Given the description of an element on the screen output the (x, y) to click on. 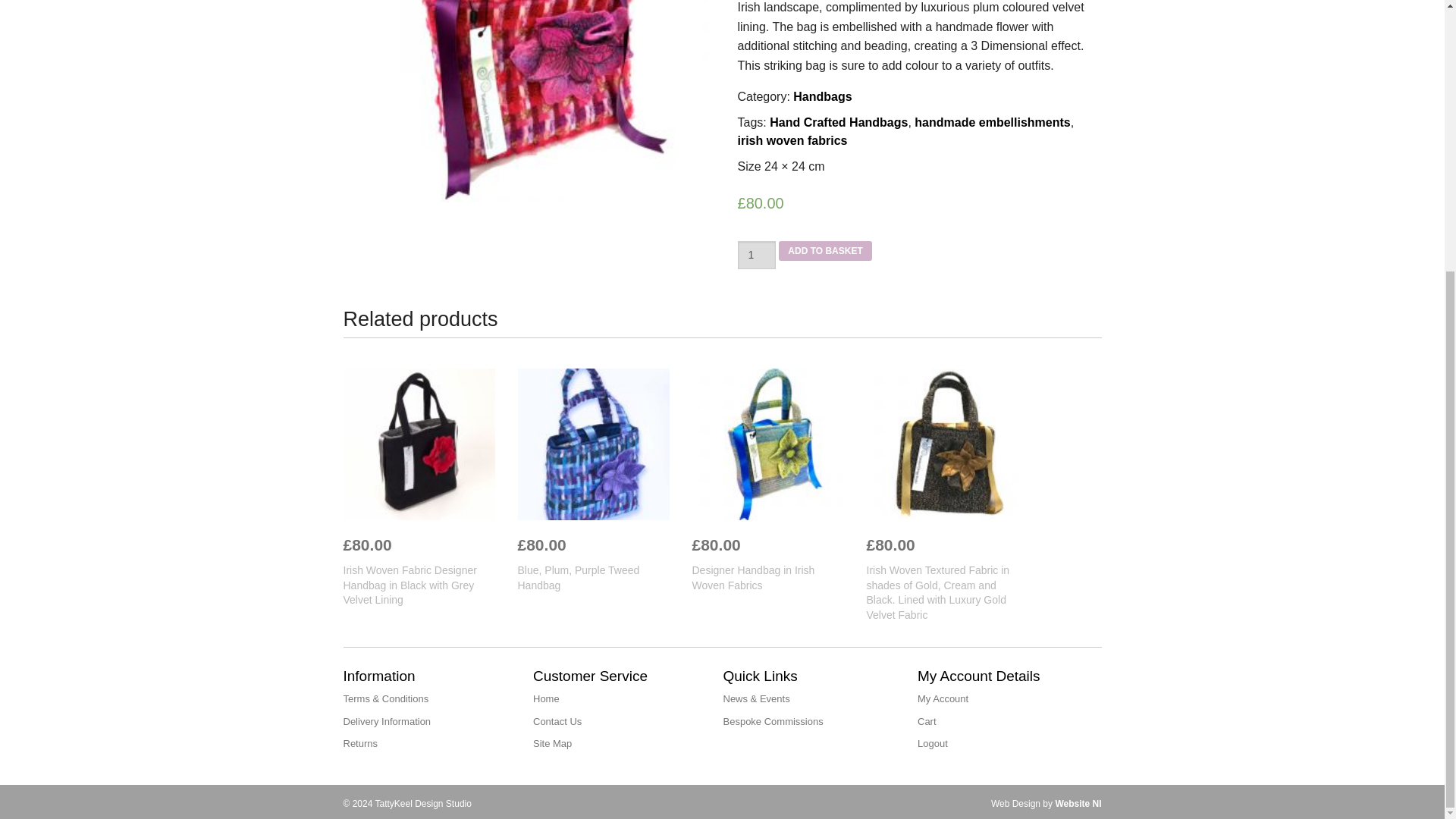
Contact Us (556, 721)
Designer Handbag in Irish Woven Fabrics (767, 577)
Home (545, 698)
handmade embellishments (992, 122)
1 (756, 254)
Hand Crafted Handbags (838, 122)
irish woven fabrics (791, 140)
Handbags (822, 96)
Bespoke Commissions (773, 721)
